Given the description of an element on the screen output the (x, y) to click on. 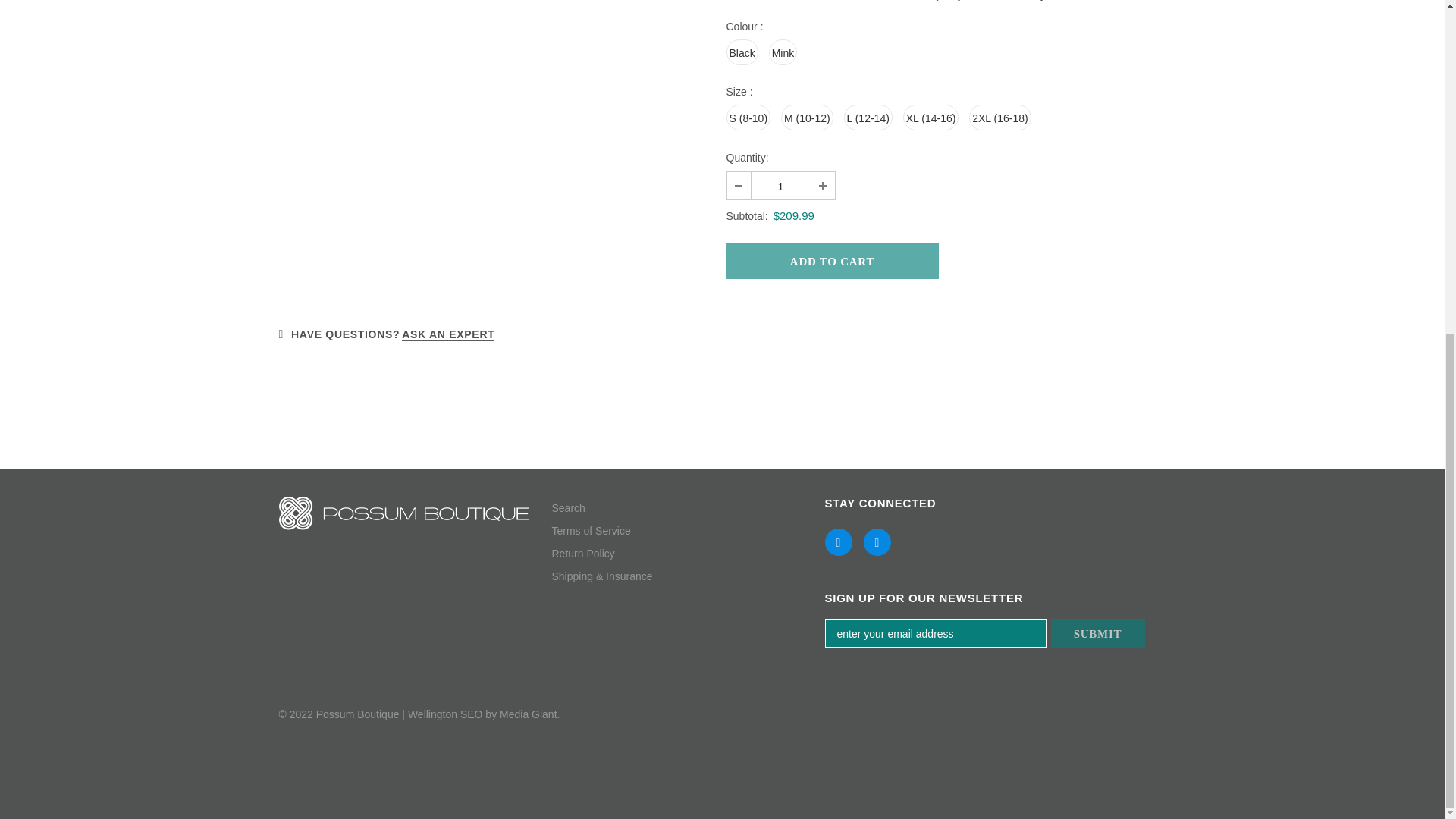
Submit (1097, 633)
Search (568, 507)
Add to cart (832, 261)
1 (780, 185)
Terms of Service (590, 530)
Ask An Expert (448, 334)
